Given the description of an element on the screen output the (x, y) to click on. 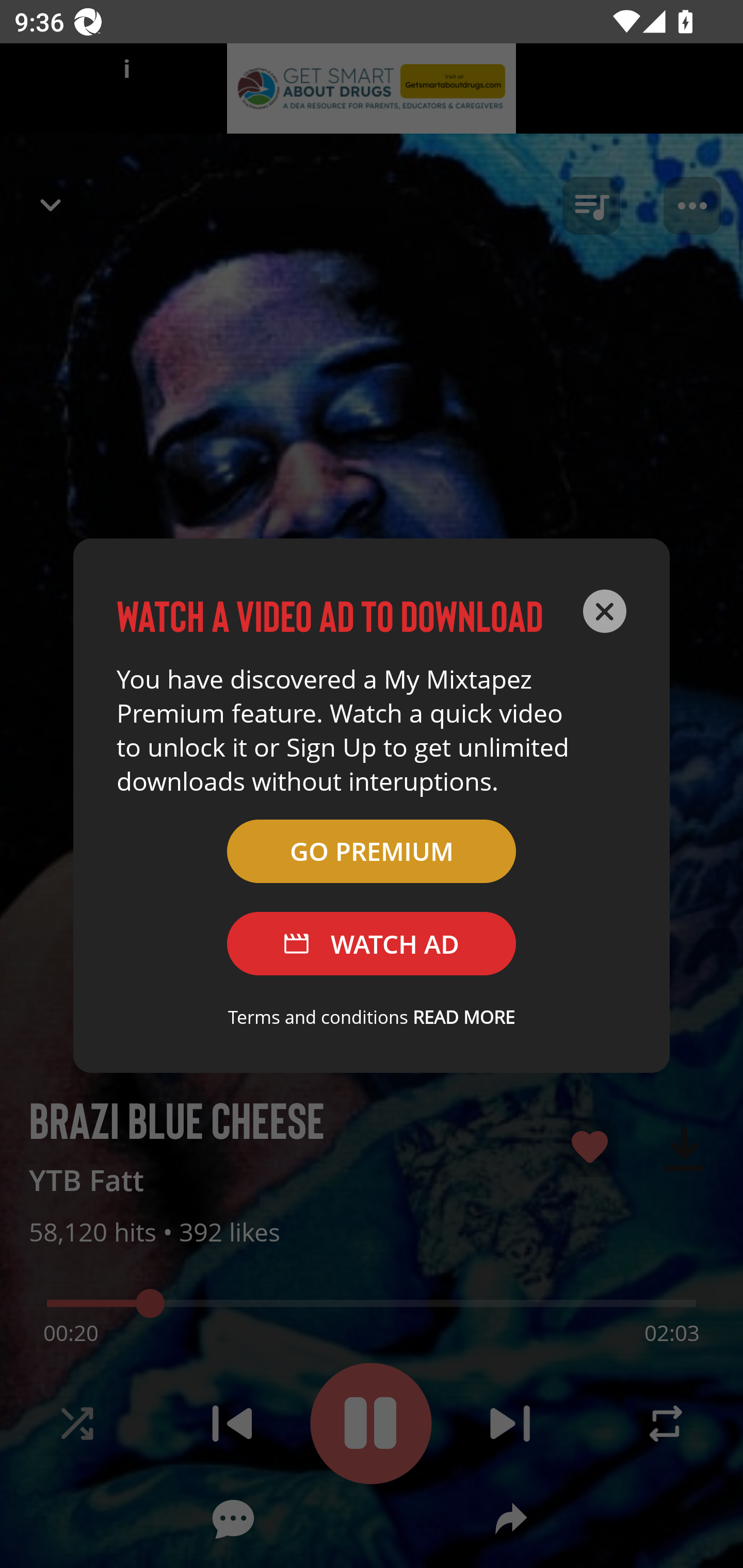
GO PREMIUM (371, 851)
WATCH AD (371, 943)
Terms and conditions READ MORE (371, 1016)
